Given the description of an element on the screen output the (x, y) to click on. 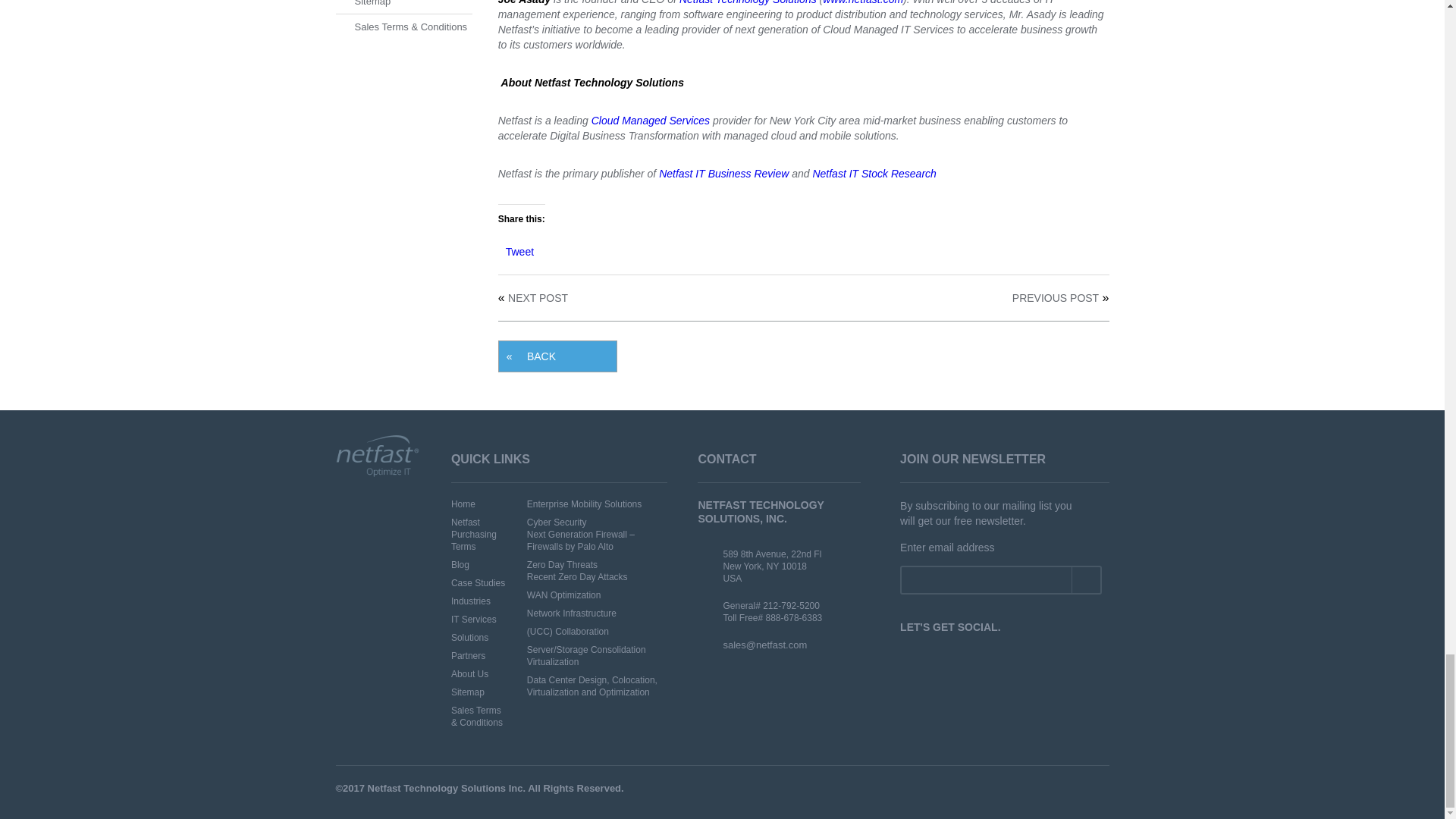
Submit (1085, 579)
